Given the description of an element on the screen output the (x, y) to click on. 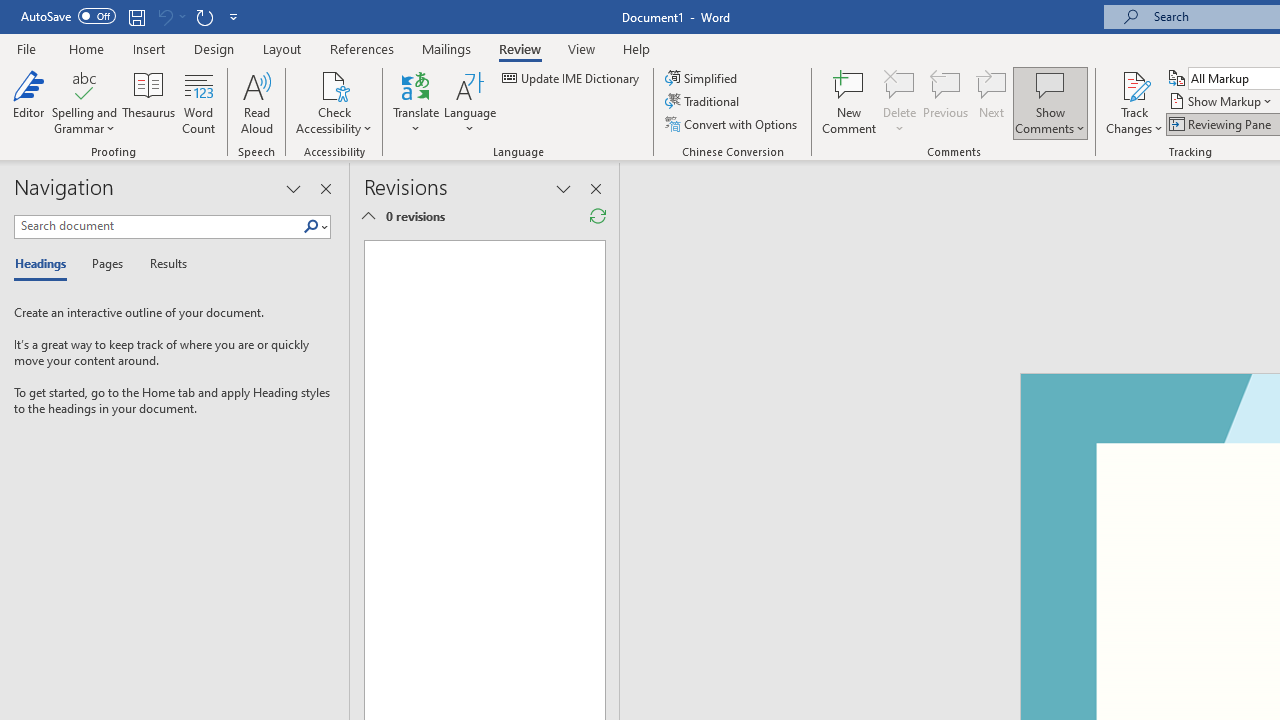
Simplified (702, 78)
Track Changes (1134, 84)
Repeat Doc Close (204, 15)
Spelling and Grammar (84, 102)
Traditional (703, 101)
Check Accessibility (334, 84)
Next (991, 102)
Word Count (198, 102)
